Given the description of an element on the screen output the (x, y) to click on. 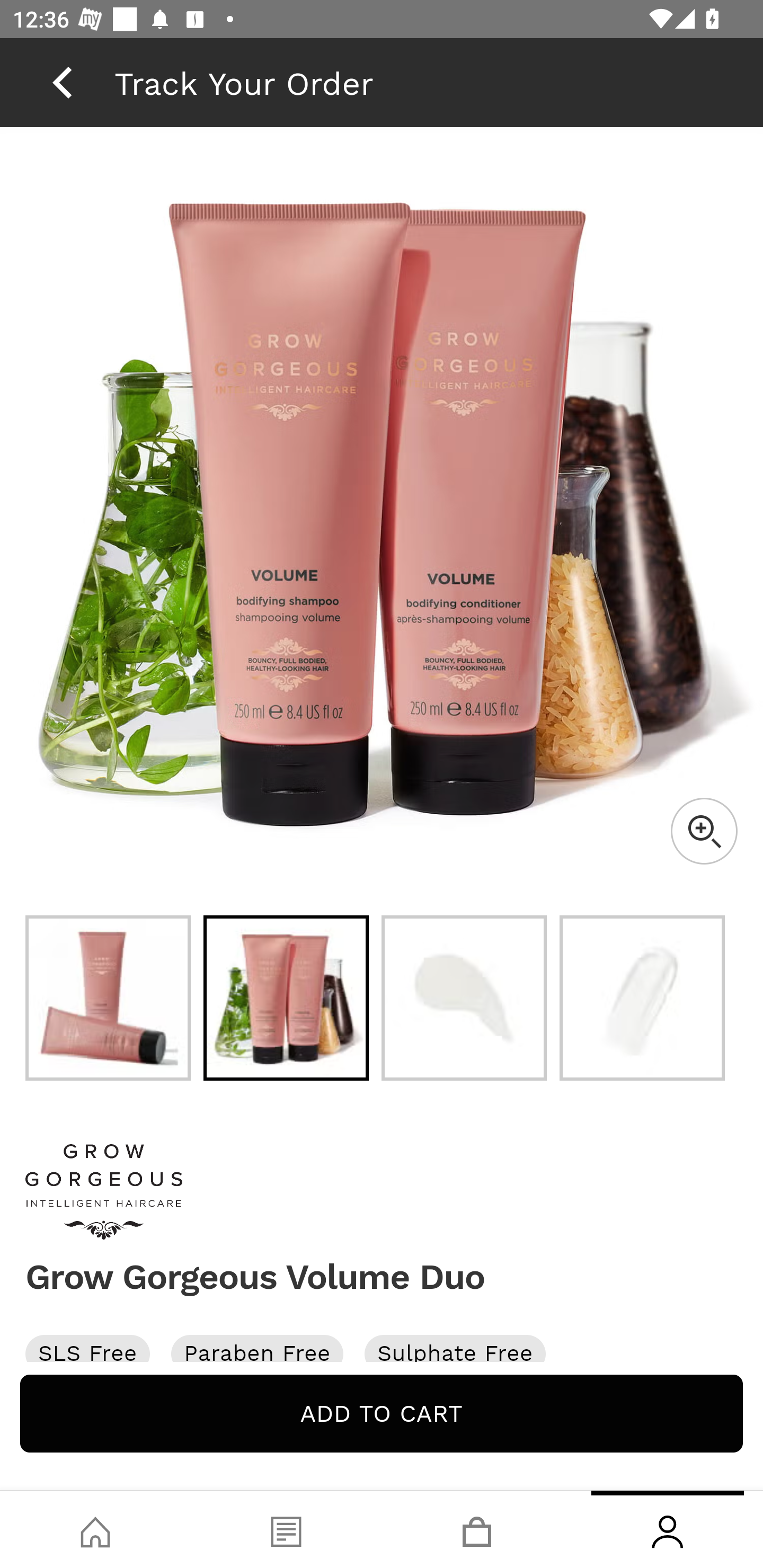
back (61, 82)
Zoom (703, 830)
Open image 1 - Grow Gorgeous Volume Duo (107, 997)
Open image 2 - Grow Gorgeous Volume Duo (285, 997)
Open image 3 - Grow Gorgeous Volume Duo (464, 997)
Open image 4 - Grow Gorgeous Volume Duo (641, 997)
Grow Gorgeous (381, 1192)
Add to cart (381, 1413)
Shop, tab, 1 of 4 (95, 1529)
Blog, tab, 2 of 4 (285, 1529)
Basket, tab, 3 of 4 (476, 1529)
Account, tab, 4 of 4 (667, 1529)
